Given the description of an element on the screen output the (x, y) to click on. 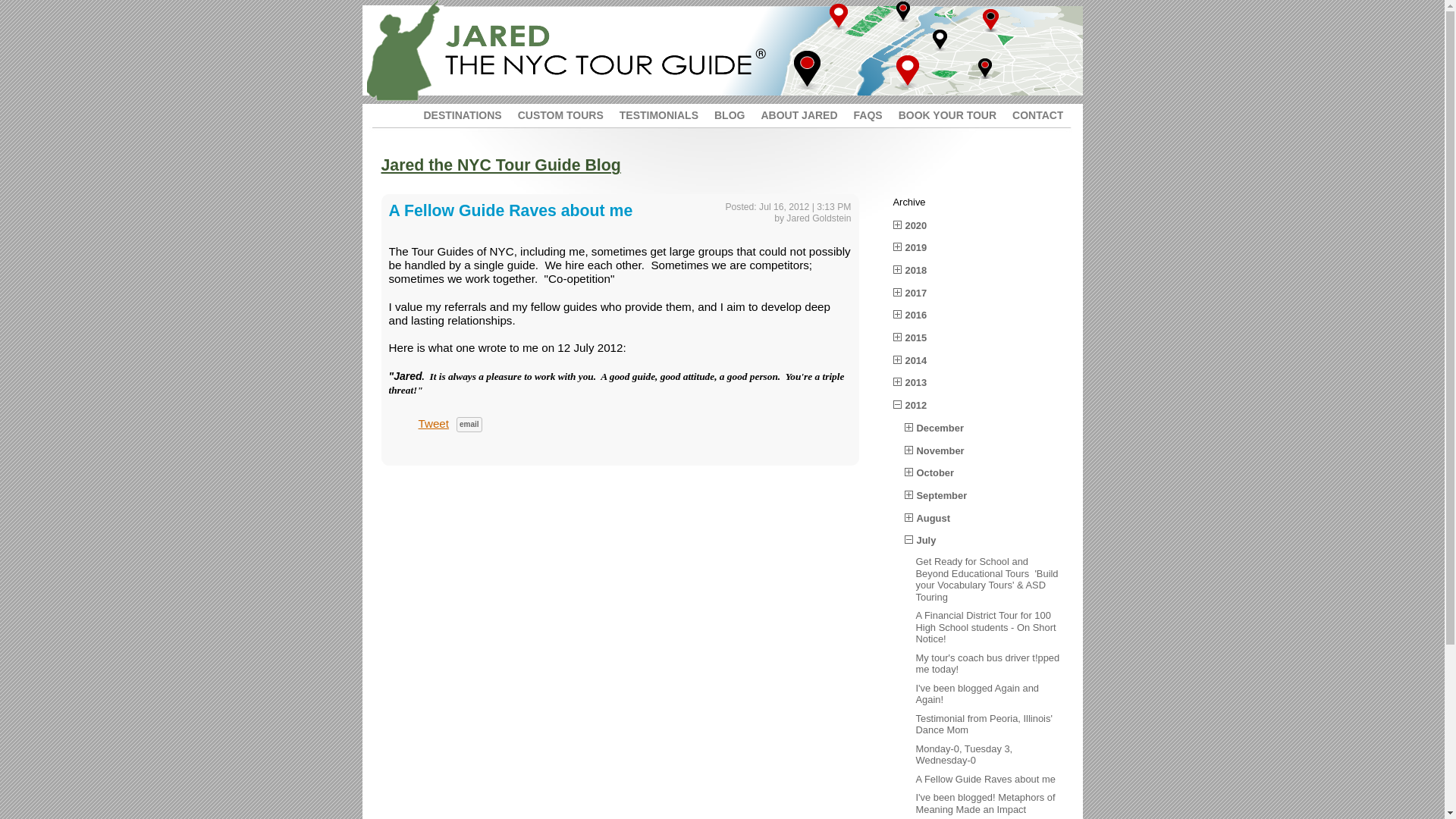
FAQS (860, 113)
ABOUT JARED (790, 113)
2020 (916, 225)
BOOK YOUR TOUR (938, 113)
Jared the NYC Tour Guide Blog (500, 165)
email (469, 424)
Email this to a friend (469, 424)
TESTIMONIALS (651, 113)
CUSTOM TOURS (553, 113)
DESTINATIONS (454, 113)
CONTACT (1028, 113)
2019 (916, 247)
Tweet (434, 422)
BLOG (721, 113)
